Given the description of an element on the screen output the (x, y) to click on. 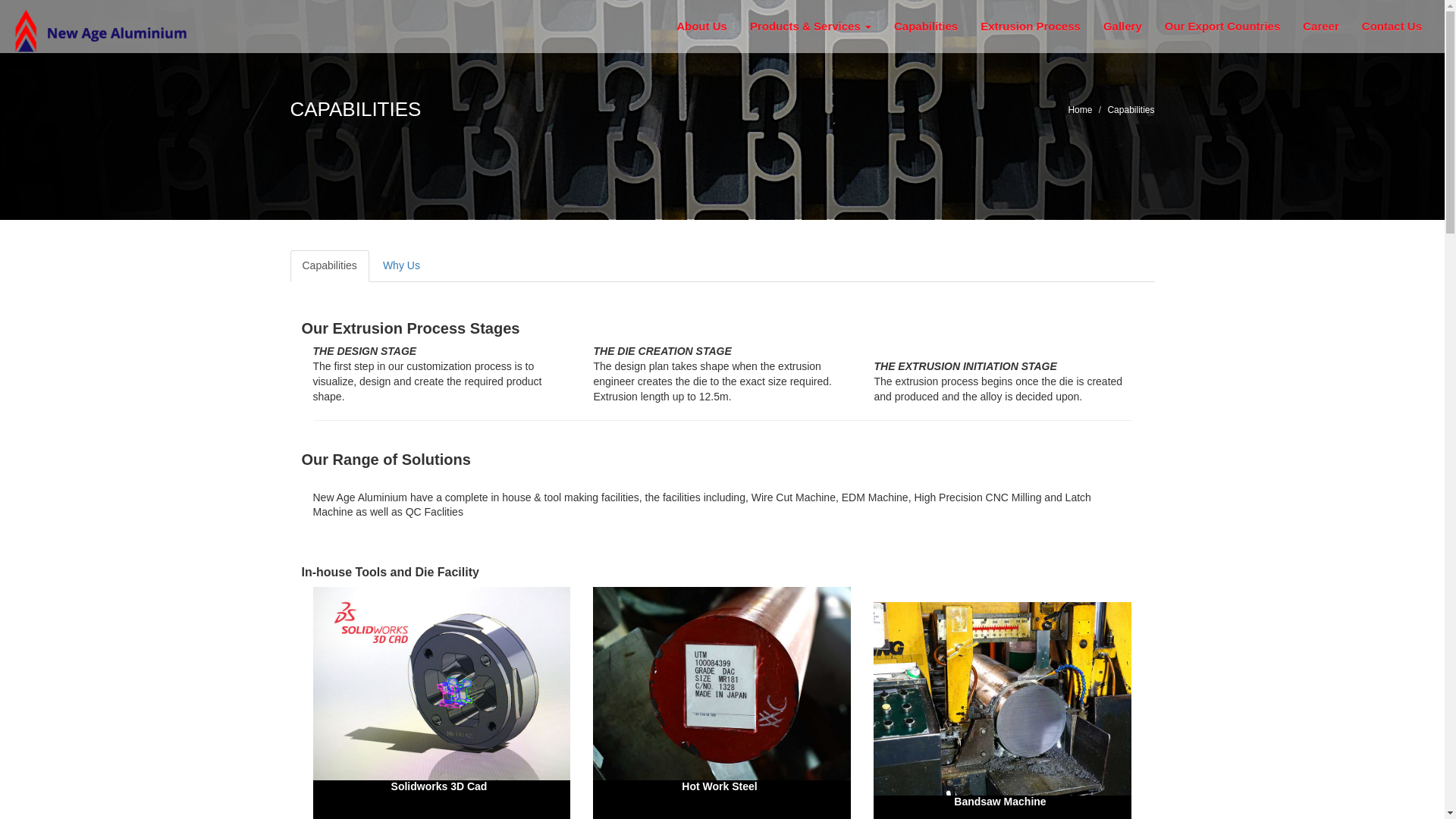
Extrusion Process (1030, 26)
Home (1079, 109)
Capabilities (328, 265)
Career (1321, 26)
Why Us (401, 265)
Contact Us (1391, 26)
Gallery (1122, 26)
About Us (701, 26)
Our Export Countries (1222, 26)
Capabilities (925, 26)
